Given the description of an element on the screen output the (x, y) to click on. 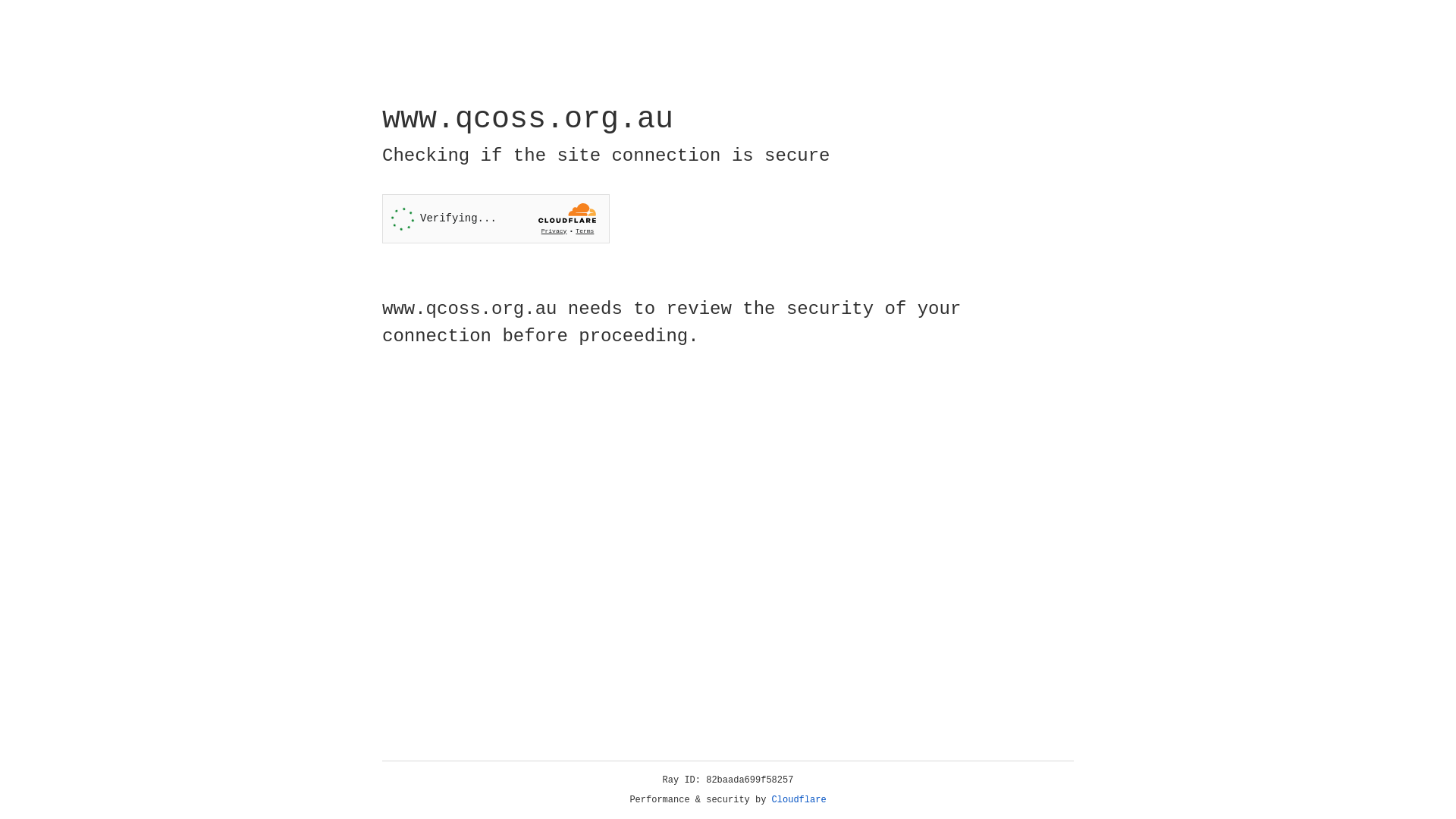
Cloudflare Element type: text (798, 799)
Widget containing a Cloudflare security challenge Element type: hover (495, 218)
